Given the description of an element on the screen output the (x, y) to click on. 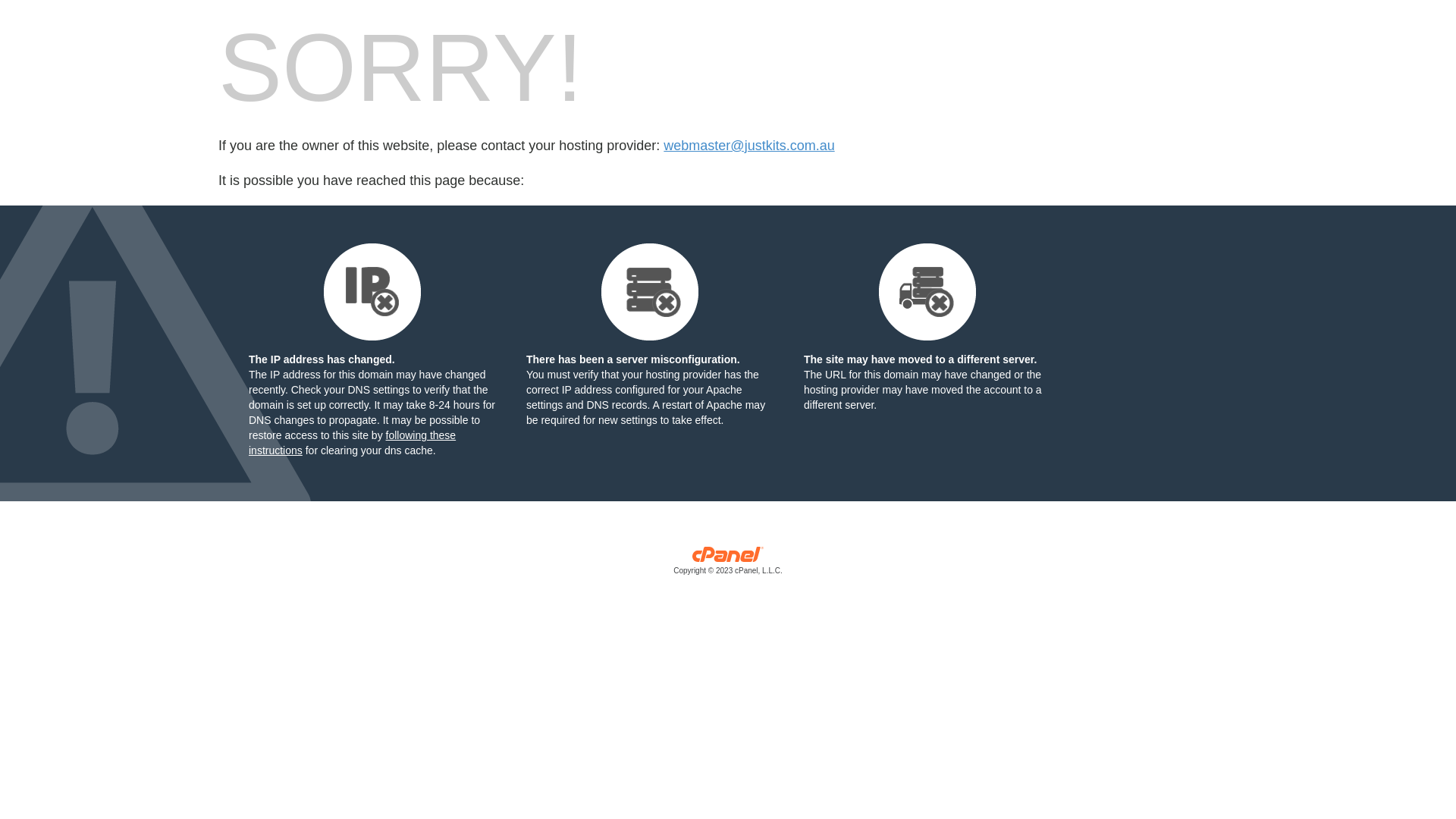
following these instructions Element type: text (351, 442)
webmaster@justkits.com.au Element type: text (748, 145)
